Given the description of an element on the screen output the (x, y) to click on. 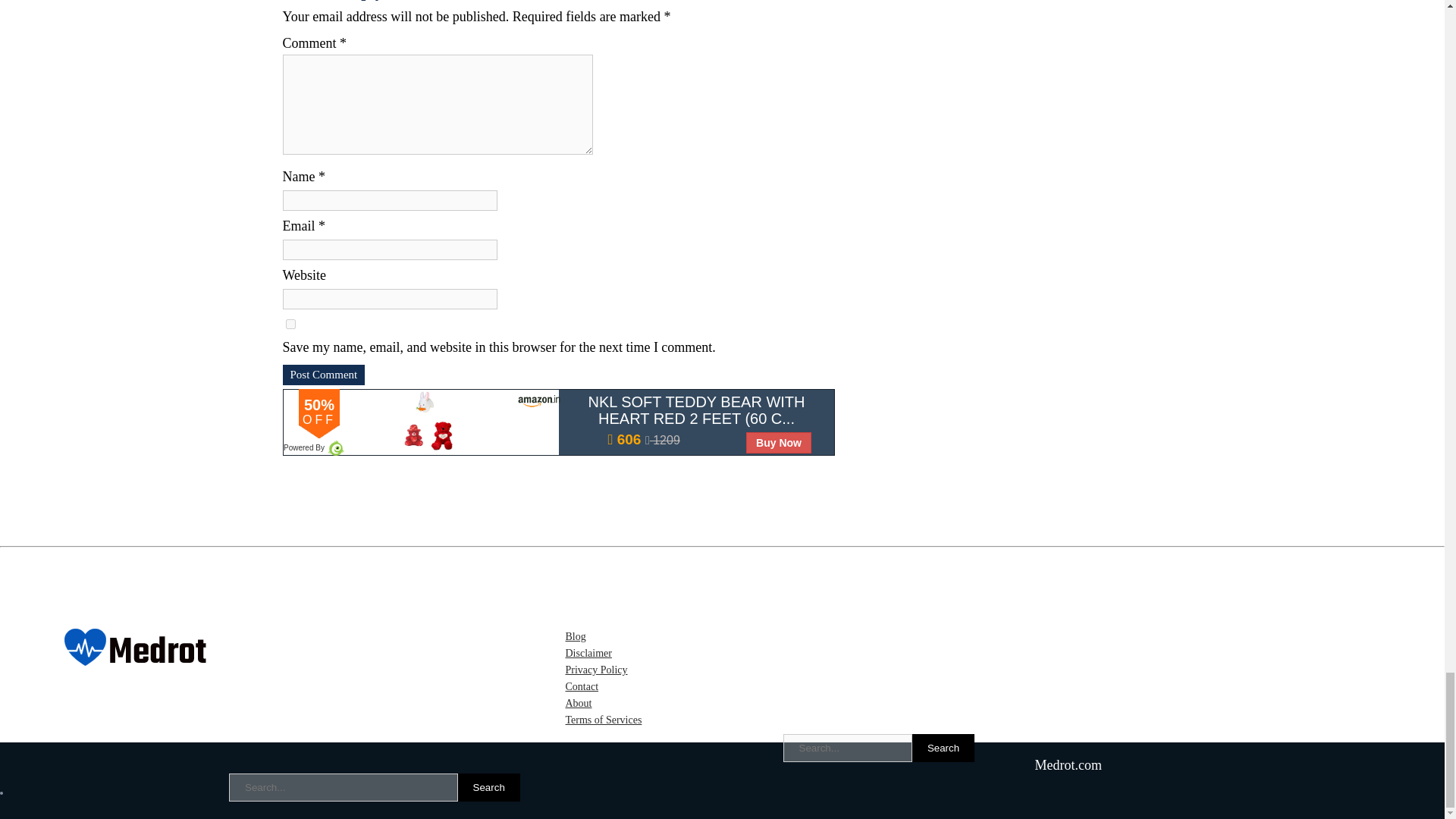
yes (290, 324)
Search (943, 747)
Search (488, 787)
Search (943, 747)
Post Comment (323, 374)
Search (488, 787)
Post Comment (323, 374)
